Given the description of an element on the screen output the (x, y) to click on. 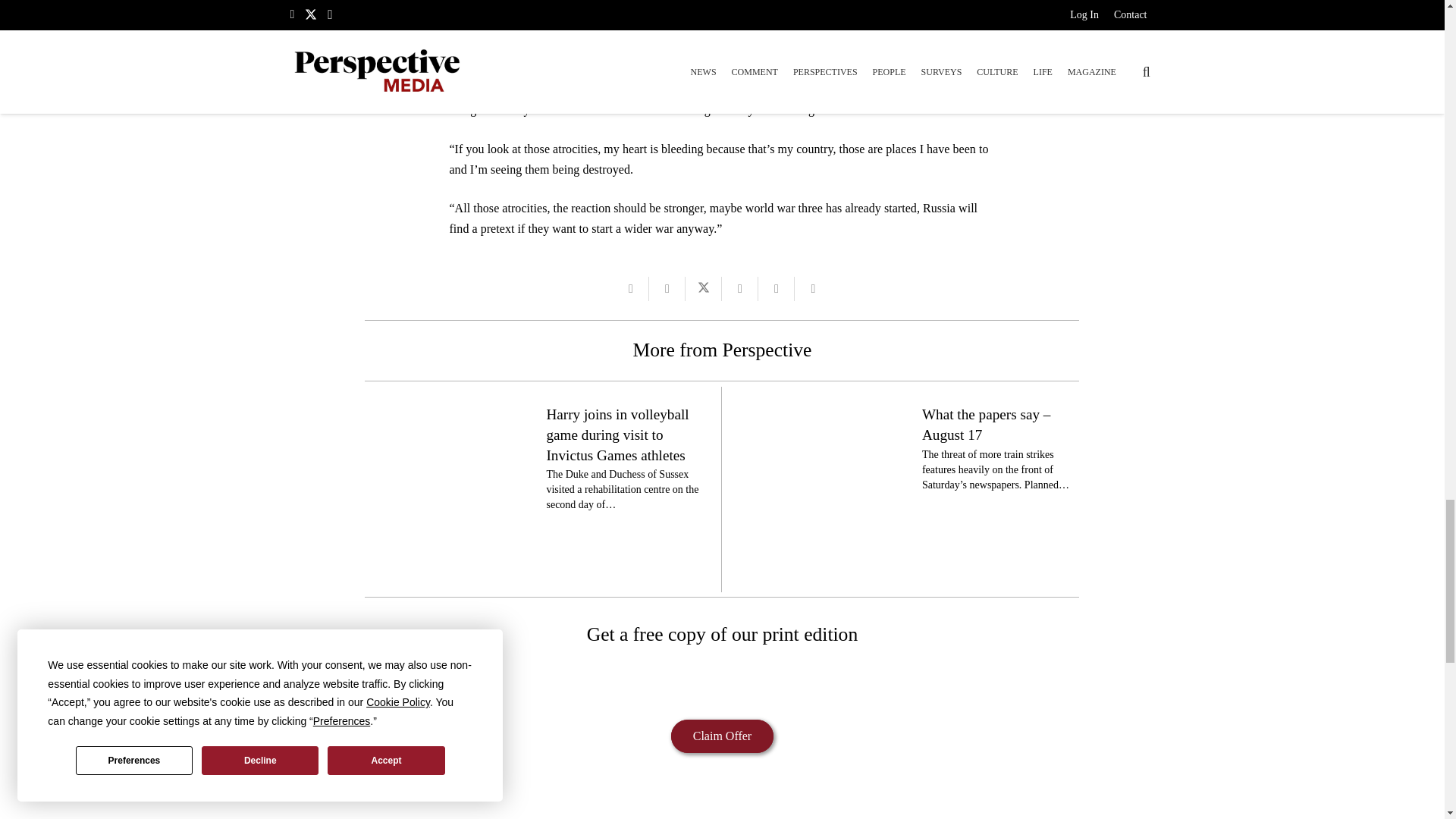
Share this (812, 288)
Tweet this (703, 288)
News (378, 784)
Claim Offer (722, 736)
Share this (740, 288)
Share this (667, 288)
Share this (776, 288)
Email this (630, 288)
